Given the description of an element on the screen output the (x, y) to click on. 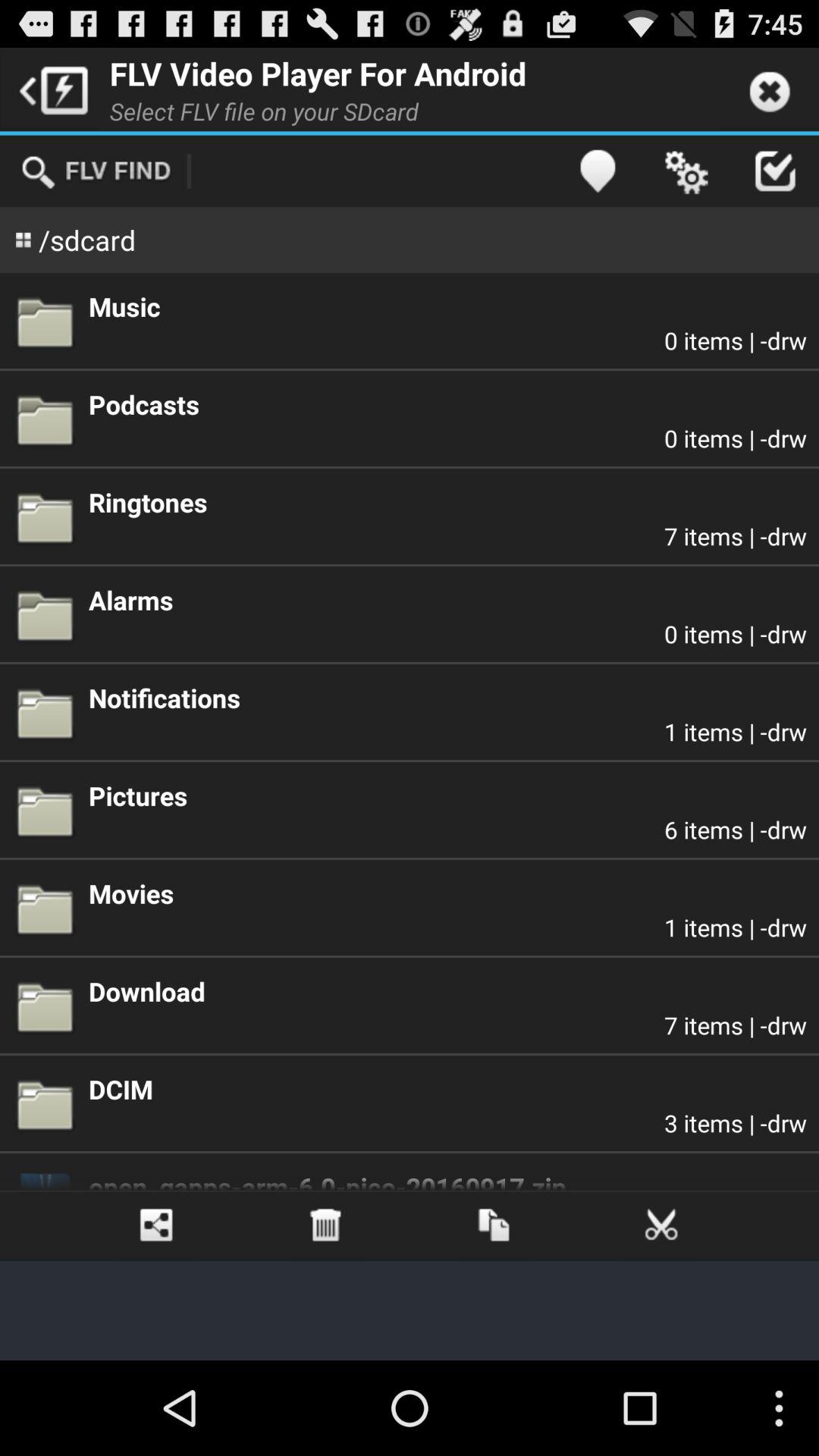
open icon above music (596, 171)
